Given the description of an element on the screen output the (x, y) to click on. 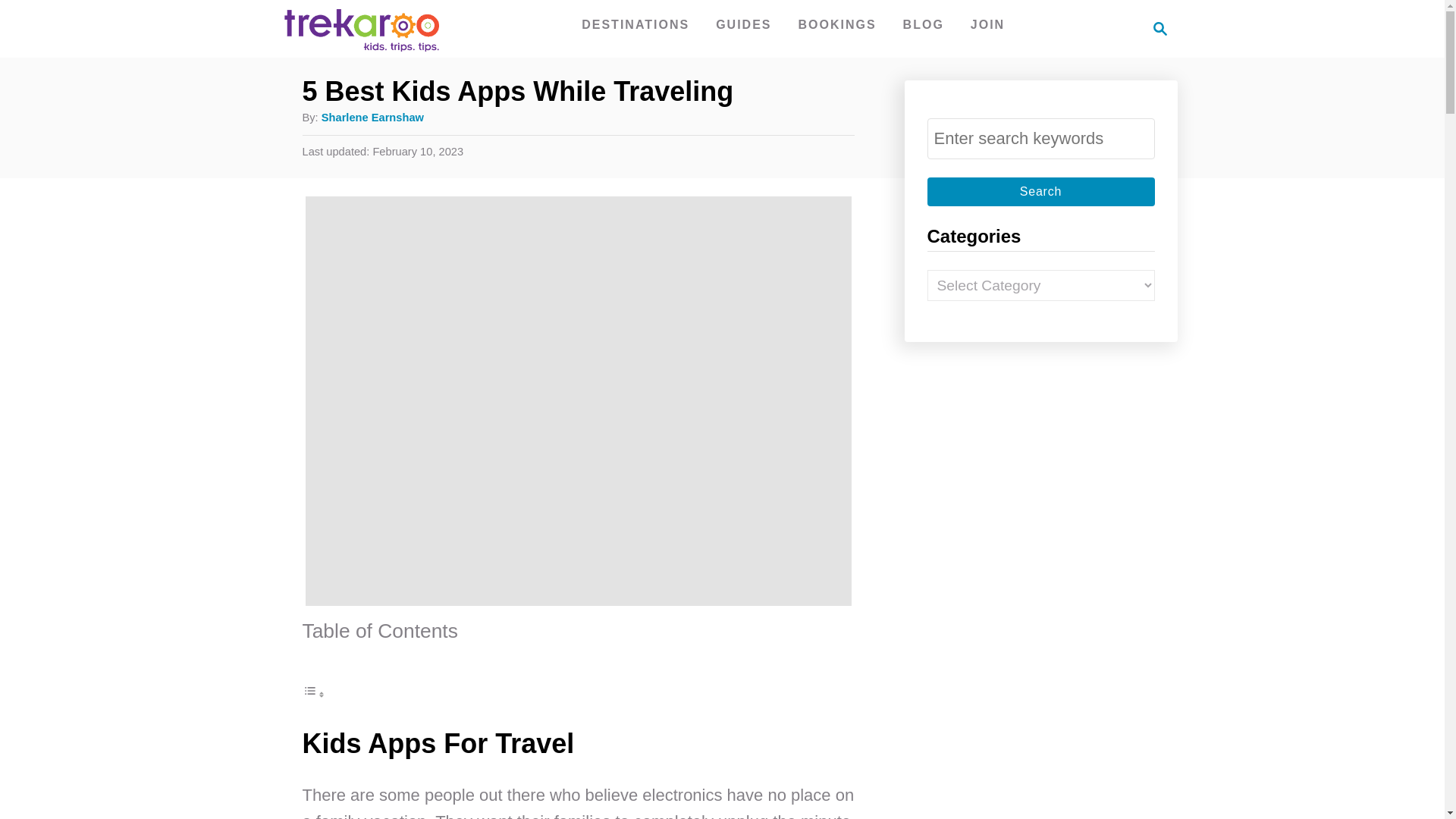
Sharlene Earnshaw (372, 117)
BOOKINGS (1155, 28)
family vacation destinations (836, 24)
DESTINATIONS (635, 24)
Search (635, 24)
Search (1040, 191)
Trekaroo Family Travel Blog (1040, 191)
travel stories and articles (360, 28)
Magnifying Glass (923, 24)
